Given the description of an element on the screen output the (x, y) to click on. 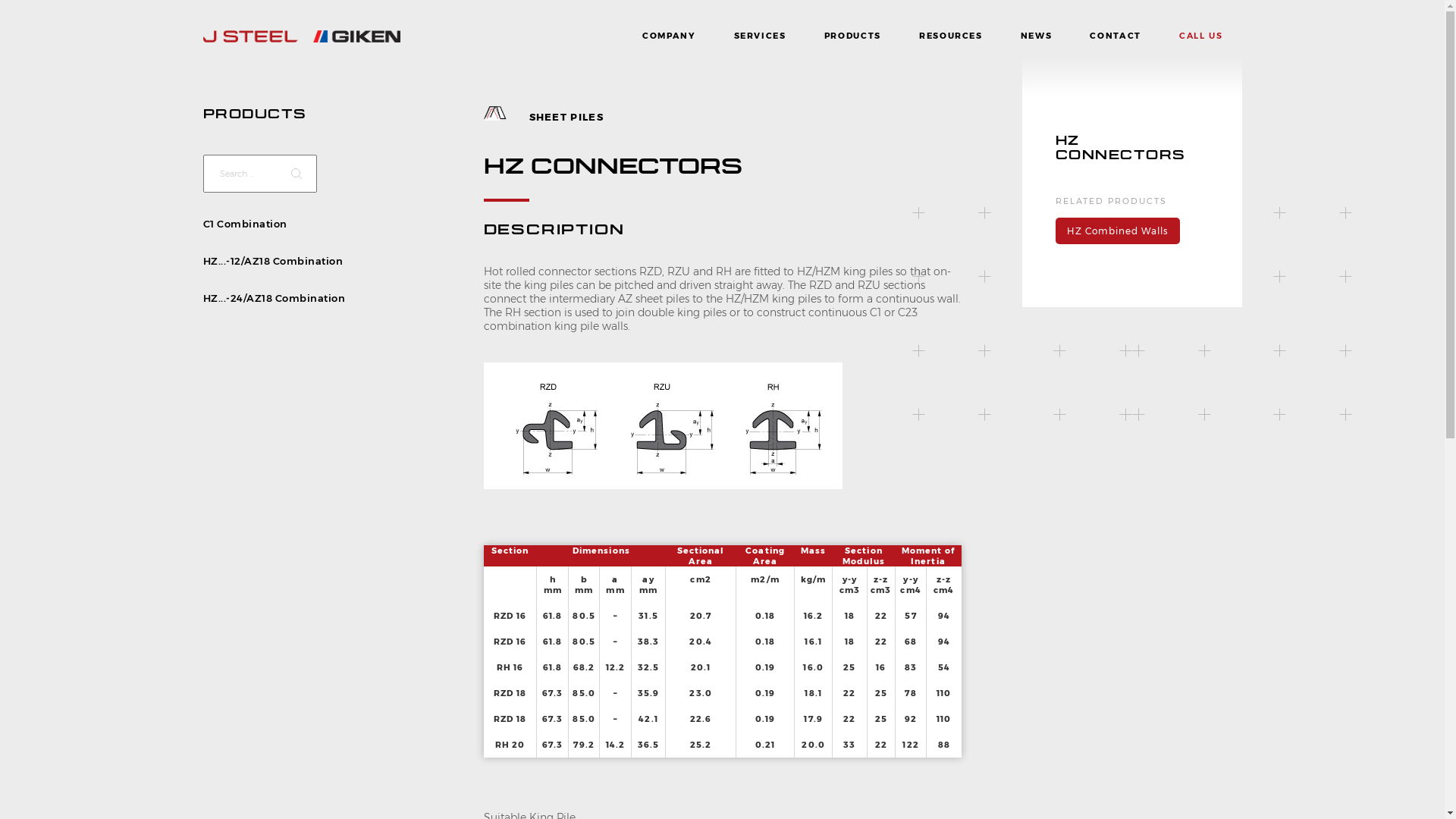
HZ Combined Walls Element type: text (1116, 230)
COMPANY Element type: text (669, 35)
NEWS Element type: text (1036, 35)
SERVICES Element type: text (760, 35)
RESOURCES Element type: text (950, 35)
SHEET PILES Element type: text (566, 116)
C1 Combination Element type: text (245, 223)
CALL US Element type: text (1201, 35)
CONTACT Element type: text (1115, 35)
HZ...-24/AZ18 Combination Element type: text (274, 297)
HZ...-12/AZ18 Combination Element type: text (273, 260)
PRODUCTS Element type: text (852, 35)
PRODUCTS Element type: text (255, 113)
